Given the description of an element on the screen output the (x, y) to click on. 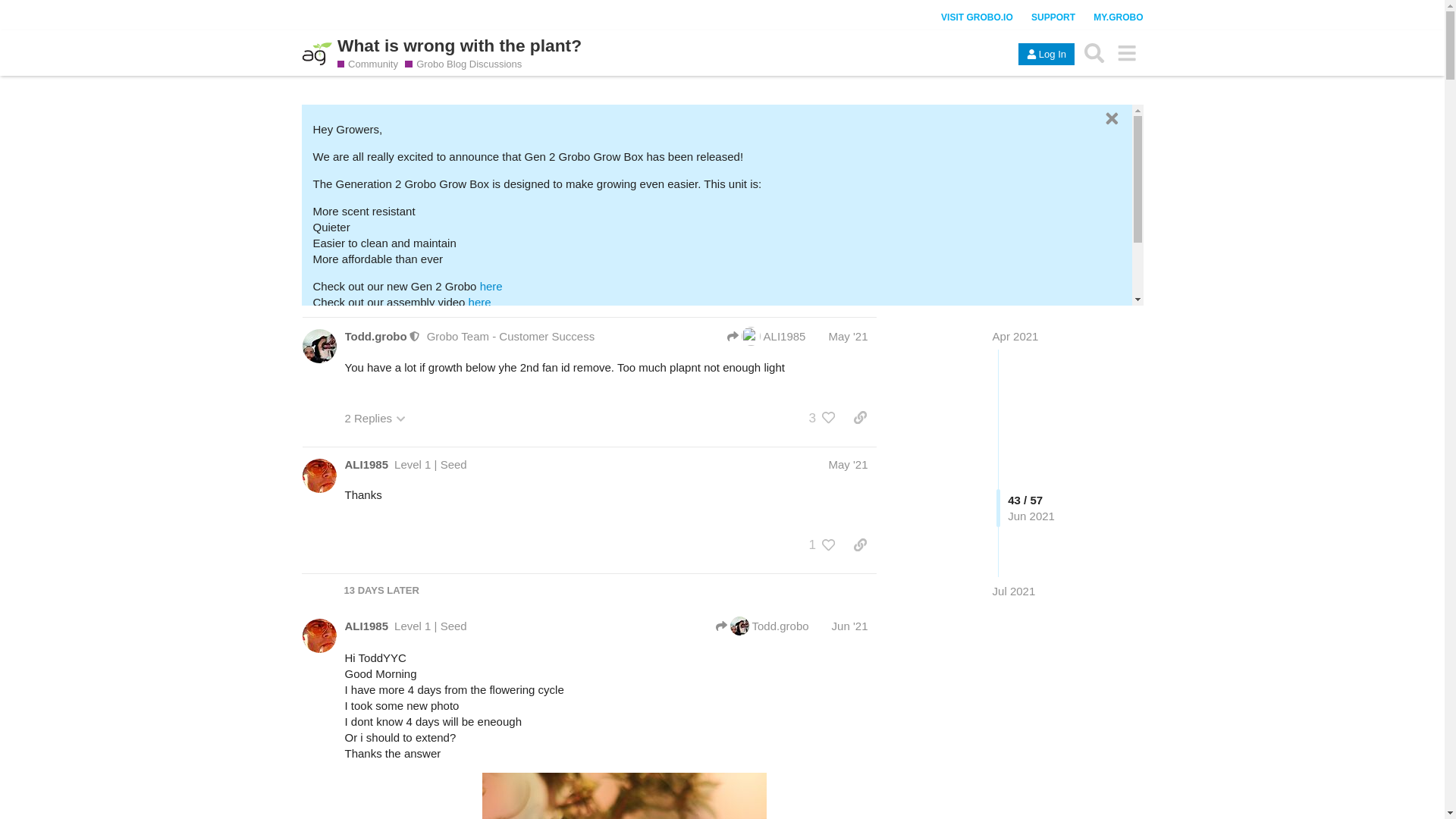
like this post (829, 417)
ALI1985 (765, 335)
Load parent post (765, 335)
Search (1094, 52)
May '21 (847, 336)
Apr 2021 (1015, 336)
ALI1985 (365, 464)
VISIT GROBO.IO (976, 17)
Community (367, 64)
Jul 2021 (1013, 590)
here (397, 318)
This user is a moderator (414, 336)
What is wrong with the plant? (458, 46)
MY.GROBO (1117, 17)
Share your stories and chat with other growers. (372, 64)
